Given the description of an element on the screen output the (x, y) to click on. 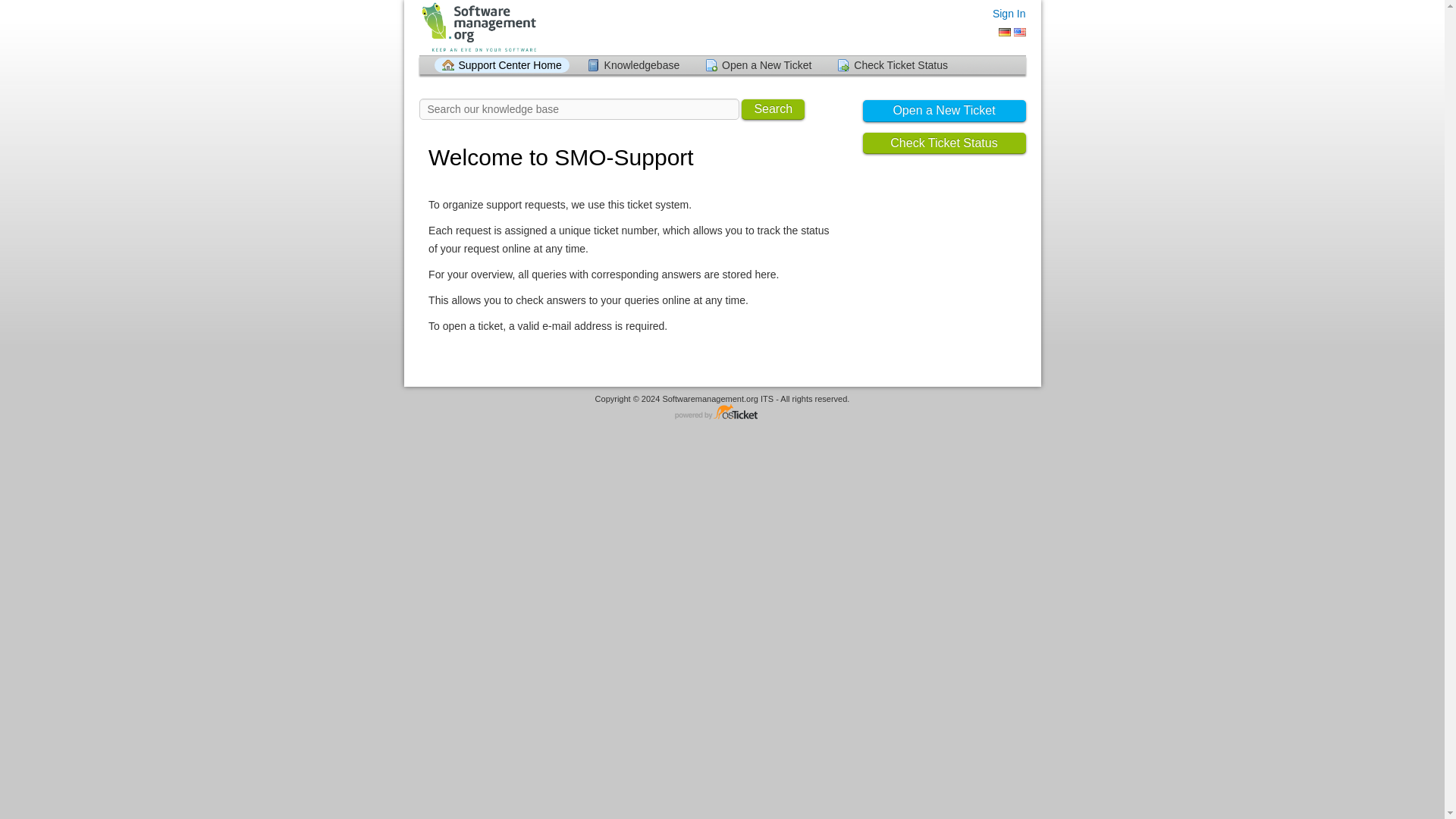
Check Ticket Status (892, 64)
Support Center (477, 27)
Sign In (1009, 13)
Open a New Ticket (944, 110)
Search (773, 109)
Knowledgebase (633, 64)
Open a New Ticket (757, 64)
Support Center Home (501, 64)
Check Ticket Status (944, 143)
